Given the description of an element on the screen output the (x, y) to click on. 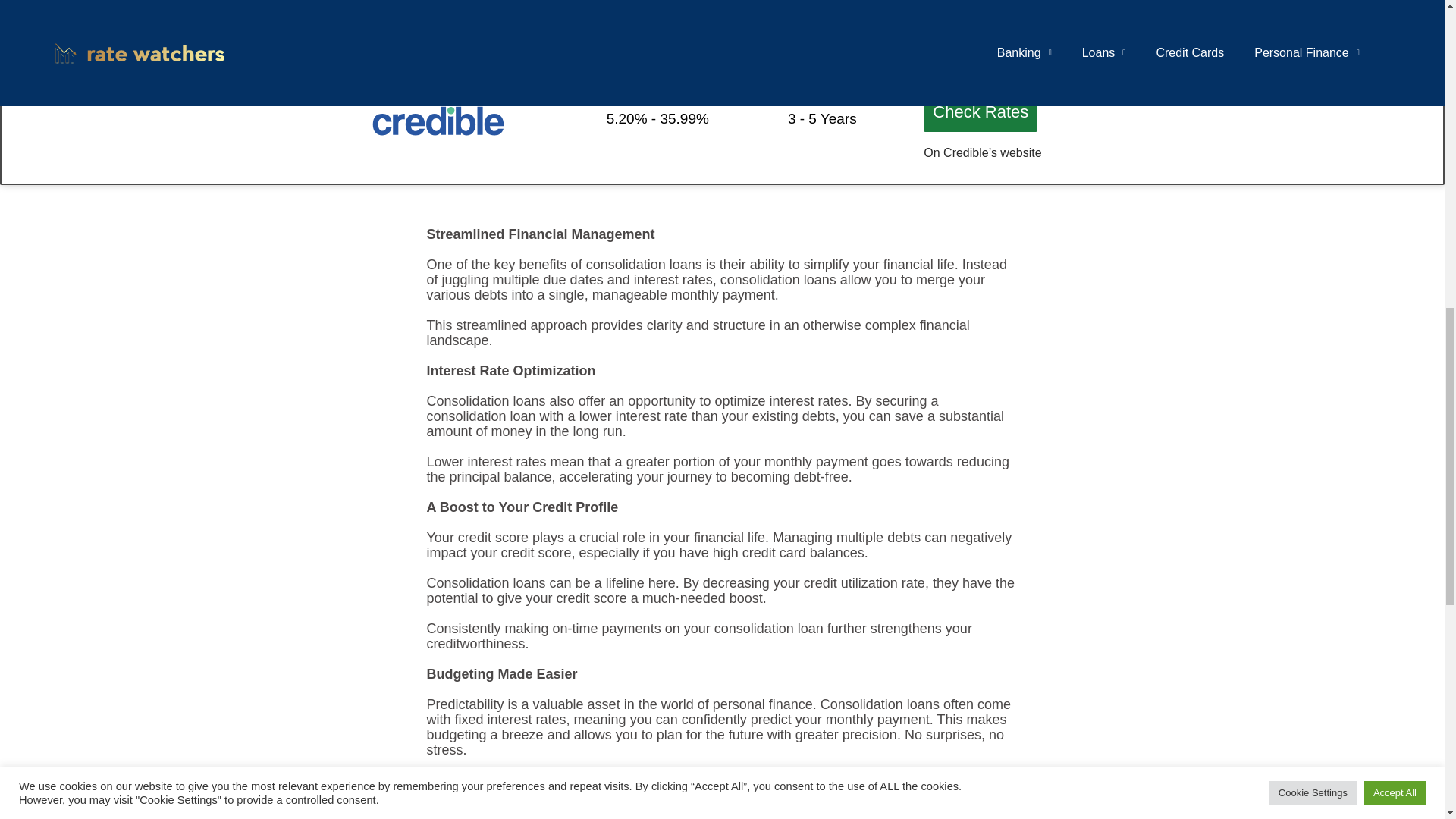
Check Rates (979, 111)
